Given the description of an element on the screen output the (x, y) to click on. 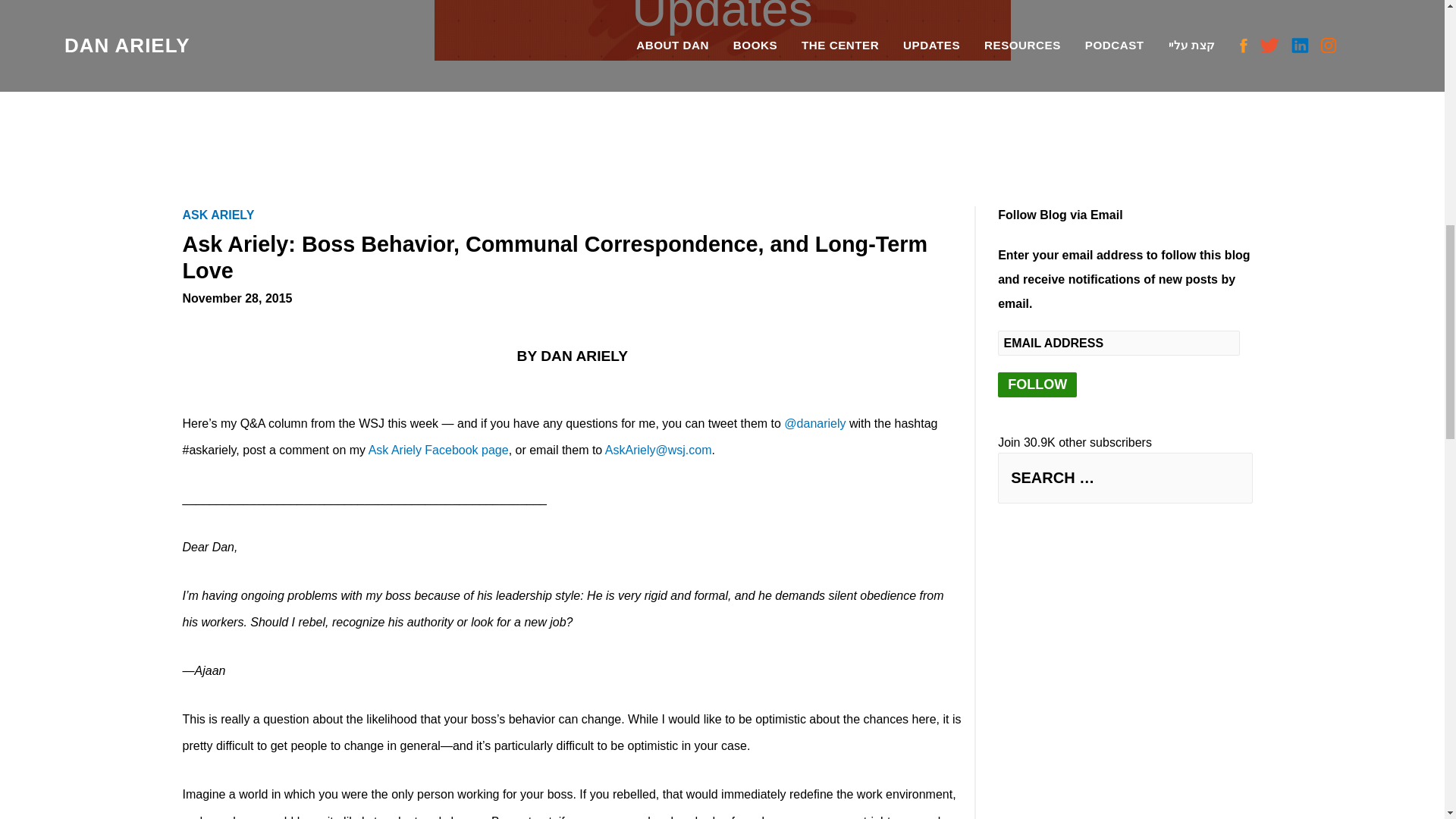
ASK ARIELY (222, 214)
Search for: (1124, 477)
Ask Ariely Facebook page (438, 449)
